Given the description of an element on the screen output the (x, y) to click on. 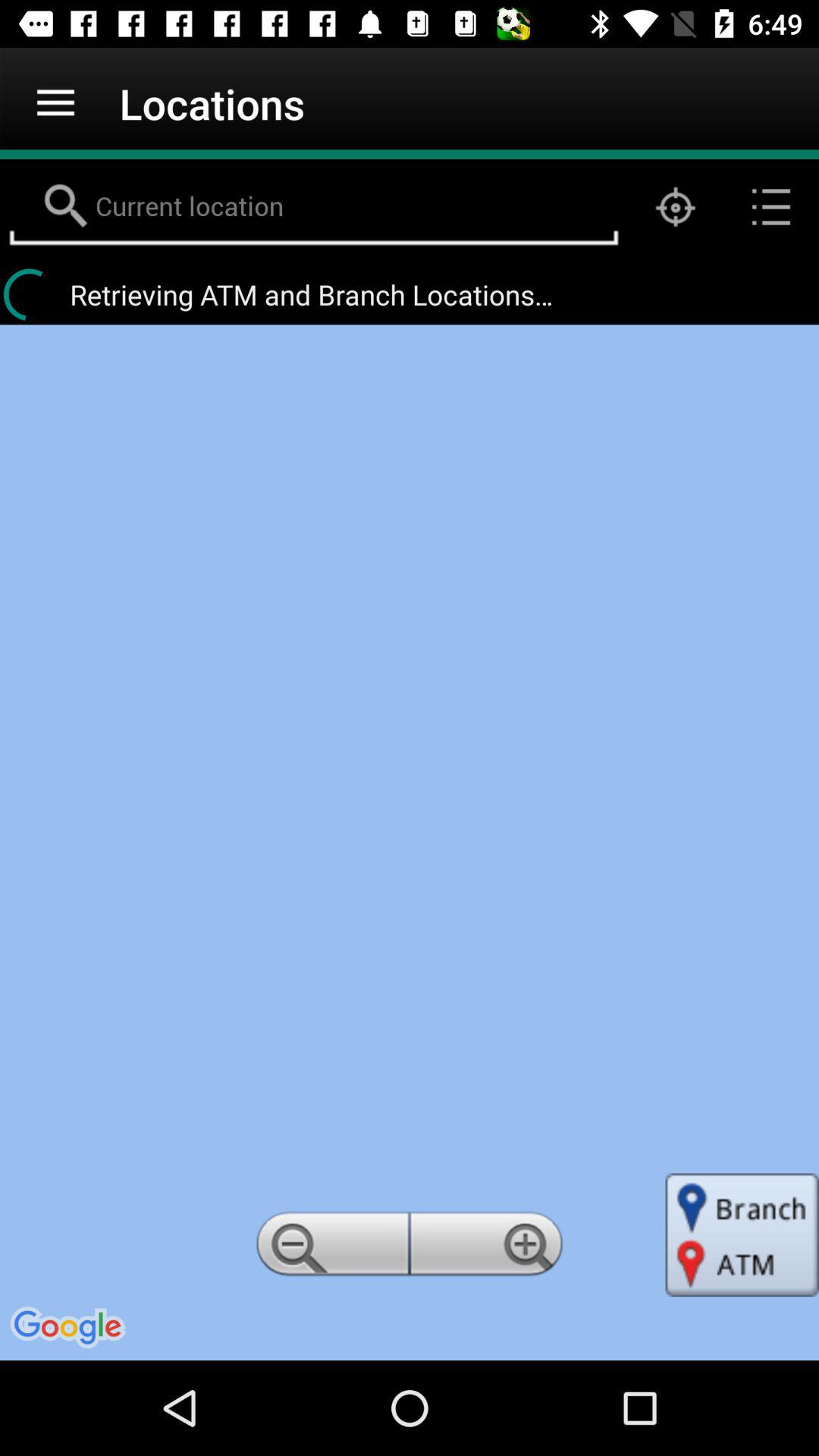
zoom-out on map (329, 1248)
